Given the description of an element on the screen output the (x, y) to click on. 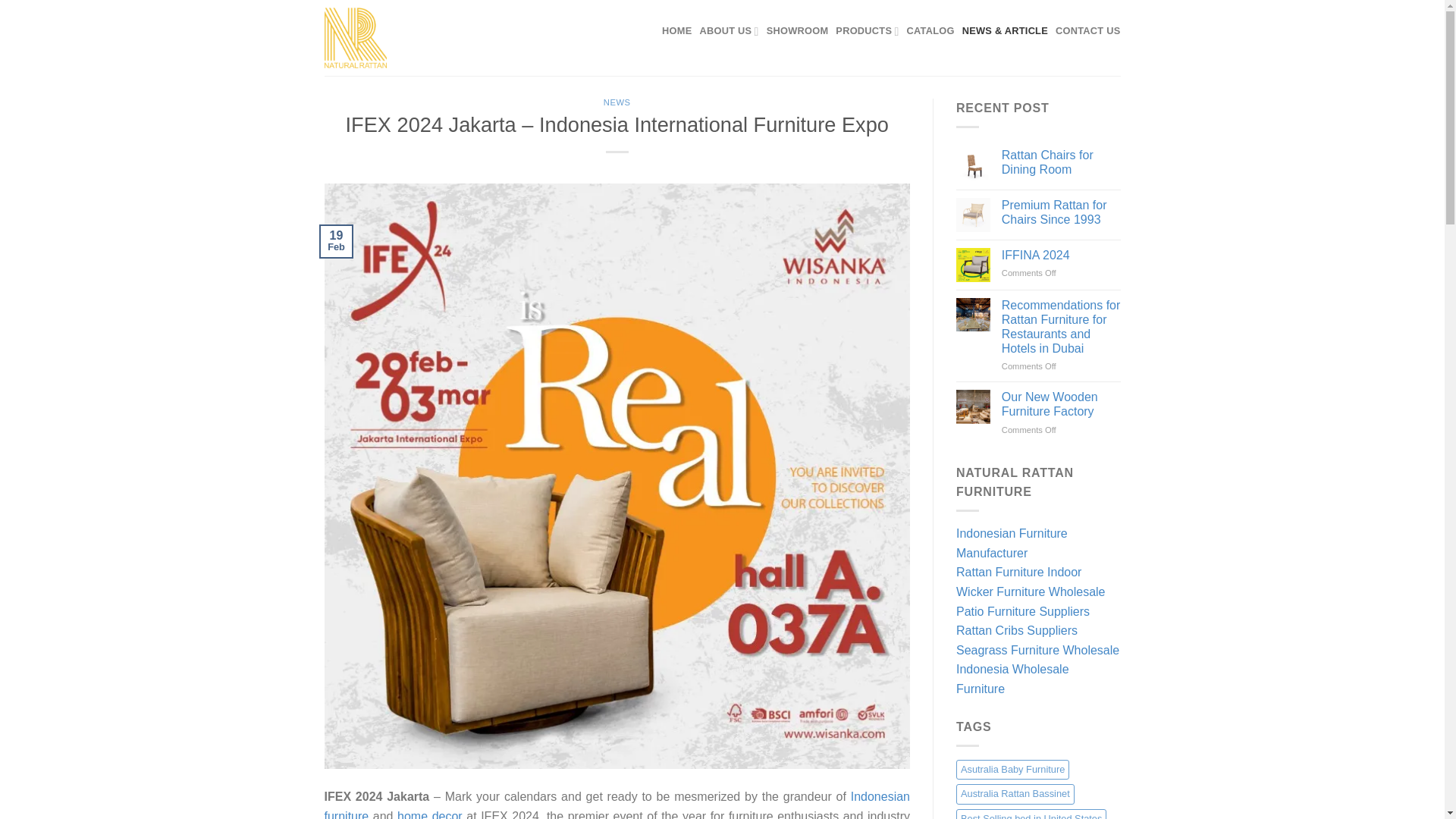
HOME (676, 30)
Rattan Chairs for Dining Room (1061, 162)
CONTACT US (1088, 30)
PRODUCTS (866, 30)
IFFINA 2024 (1061, 255)
Indonesian furniture (617, 804)
Premium Rattan for Chairs Since 1993 (1061, 212)
SHOWROOM (797, 30)
home decor (430, 814)
CATALOG (931, 30)
Products (866, 30)
NEWS (617, 102)
ABOUT US (728, 30)
